Given the description of an element on the screen output the (x, y) to click on. 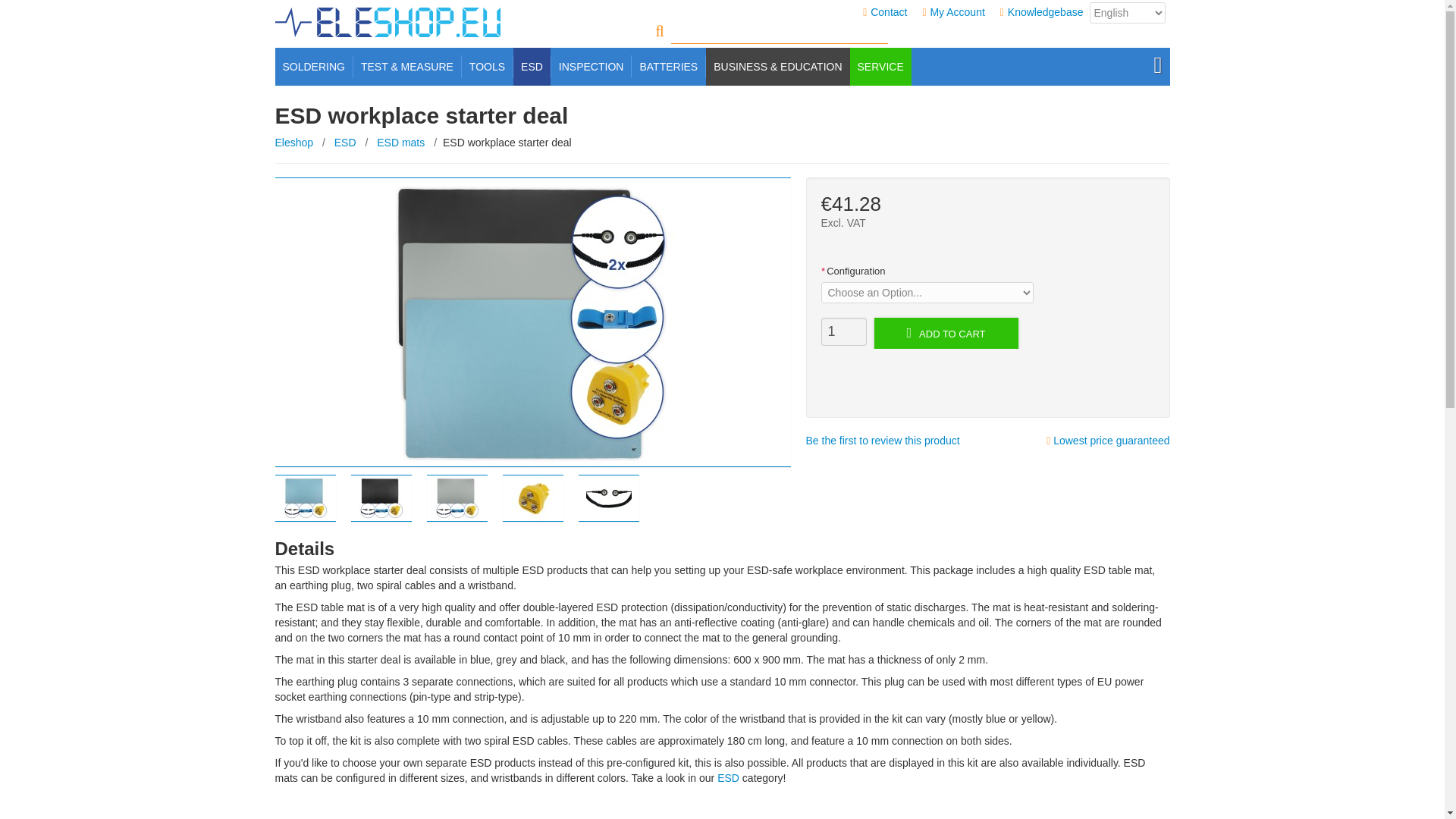
Be the first to review this product (882, 440)
Lowest price guaranteed (1107, 440)
Contact (888, 11)
Eleshop (294, 142)
ADD TO CART (945, 332)
1 (843, 331)
Qty (843, 331)
My Account (957, 11)
ESD mats (401, 142)
My Account (957, 11)
